Given the description of an element on the screen output the (x, y) to click on. 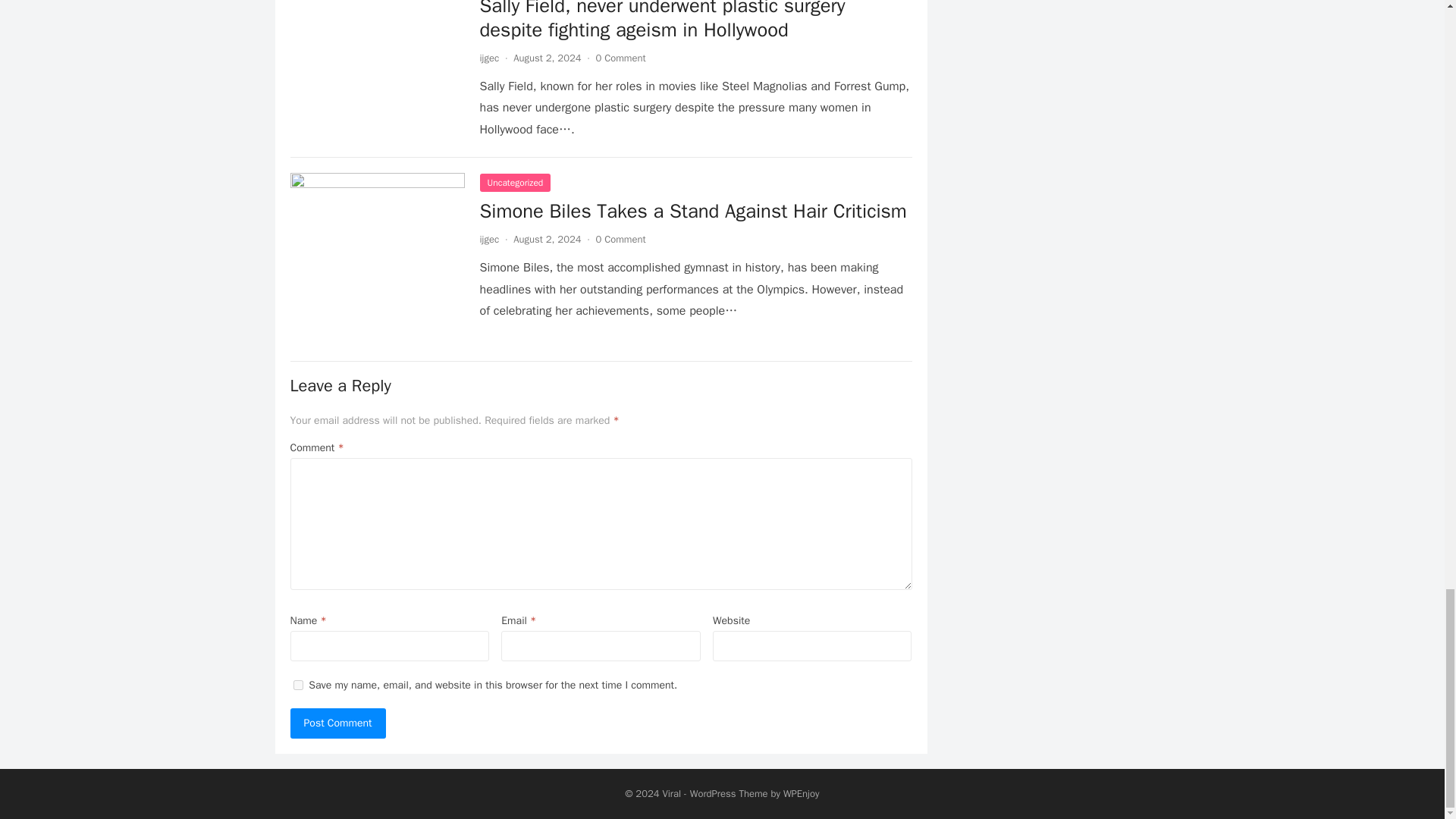
Posts by ijgec (489, 57)
0 Comment (620, 57)
Uncategorized (514, 182)
Post Comment (337, 723)
ijgec (489, 57)
yes (297, 685)
Posts by ijgec (489, 238)
